Given the description of an element on the screen output the (x, y) to click on. 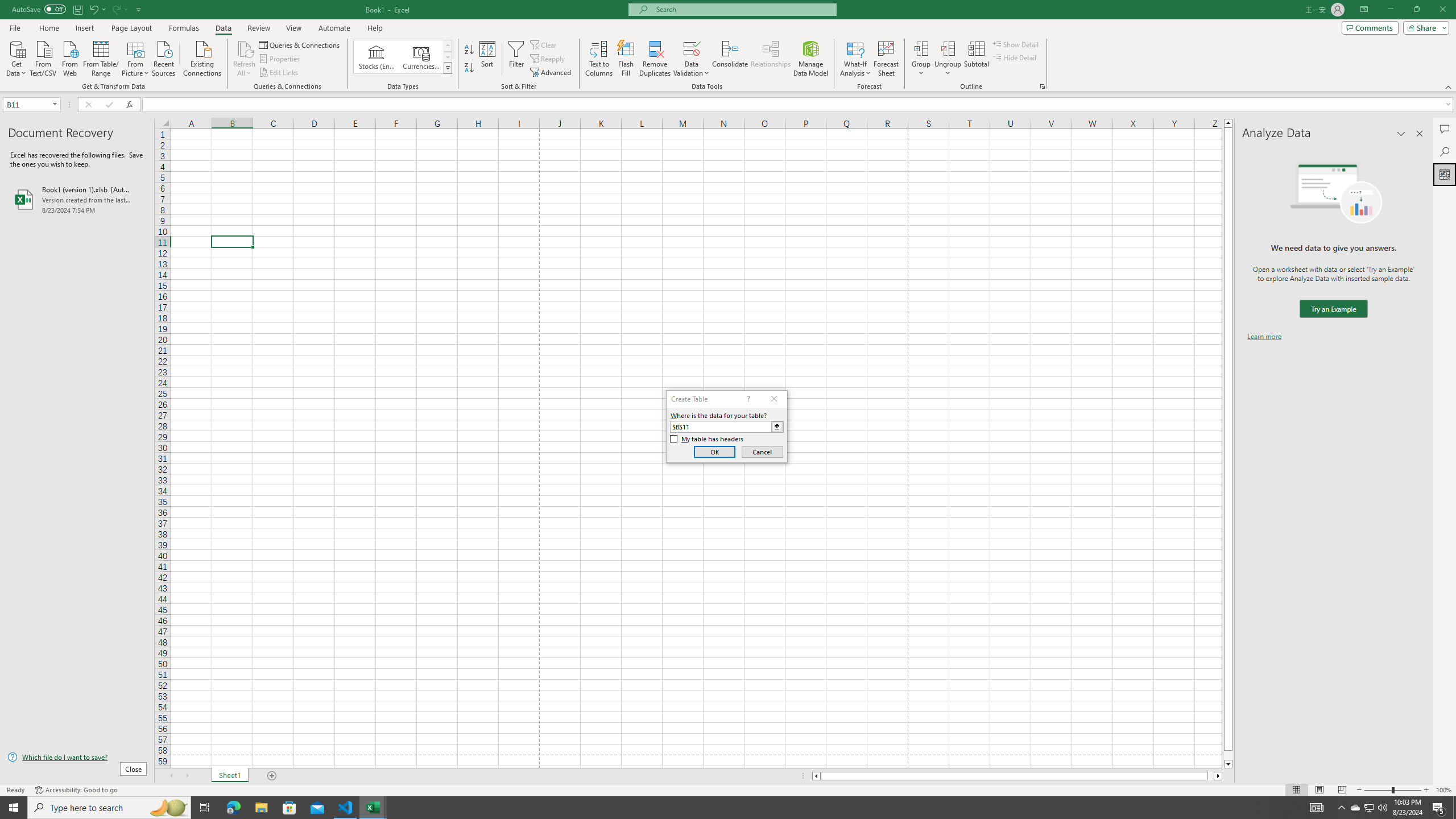
Accessibility Checker Accessibility: Good to go (76, 790)
Formulas (184, 28)
Ribbon Display Options (1364, 9)
Data Types (448, 67)
AutoSave (38, 9)
Customize Quick Access Toolbar (139, 9)
Automate (334, 28)
Ungroup... (947, 58)
Page down (1228, 755)
Column left (815, 775)
Class: NetUIImage (447, 68)
Group... (921, 58)
